Given the description of an element on the screen output the (x, y) to click on. 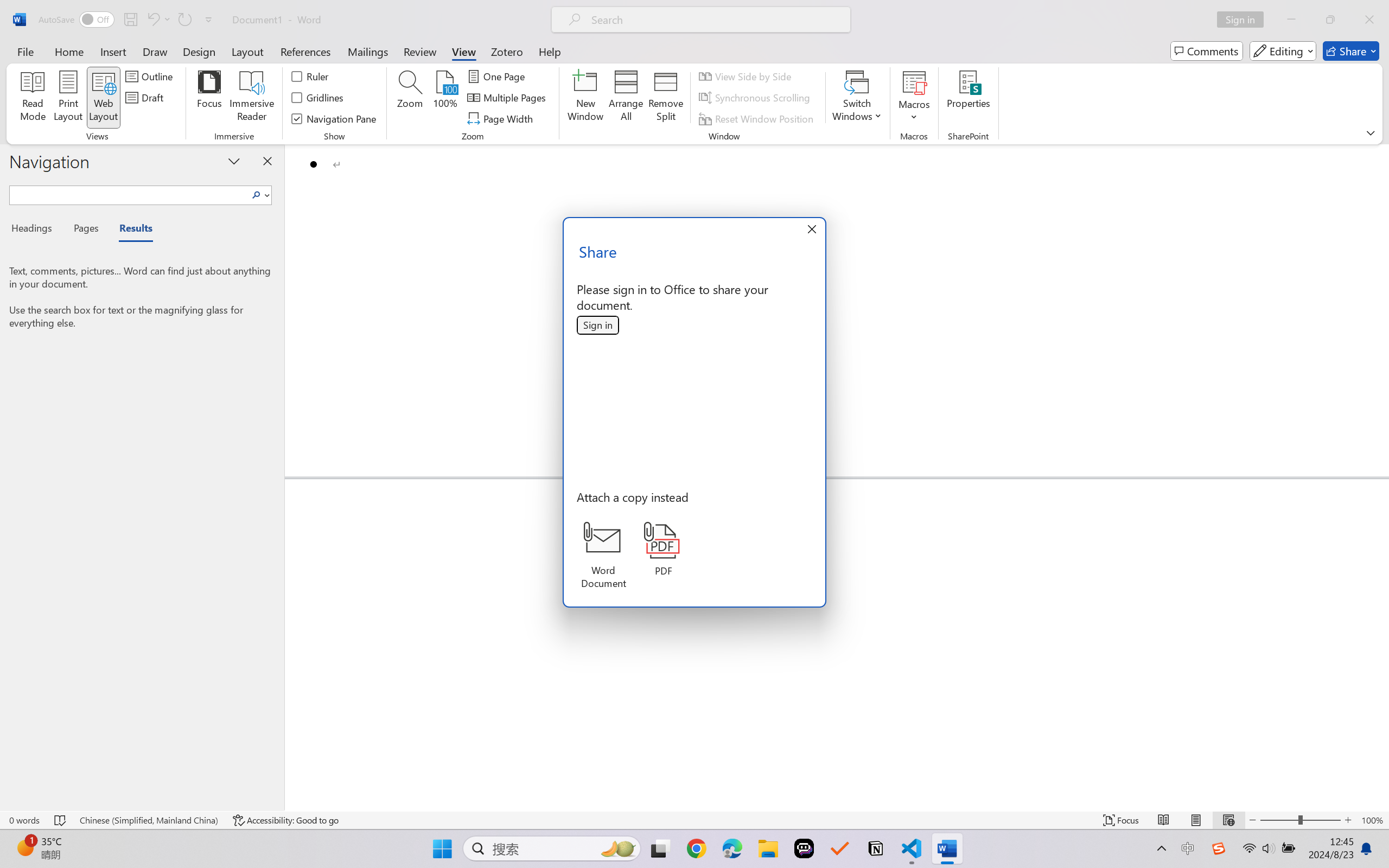
Search document (128, 193)
Undo Bullet Default (152, 19)
Results (130, 229)
Outline (150, 75)
Draft (146, 97)
Multiple Pages (507, 97)
